Given the description of an element on the screen output the (x, y) to click on. 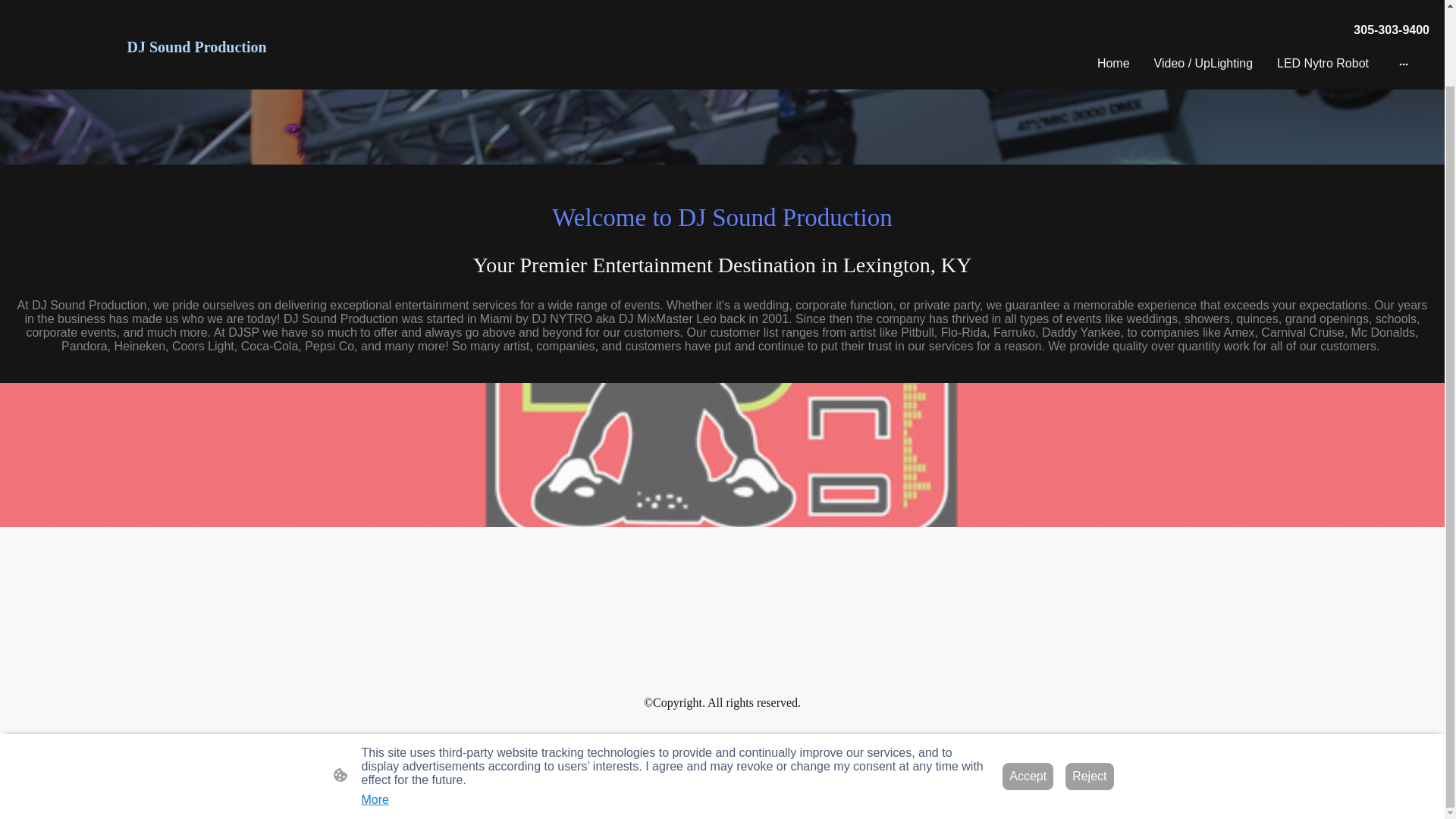
Reject (1089, 691)
More (374, 714)
Accept (1027, 691)
